Given the description of an element on the screen output the (x, y) to click on. 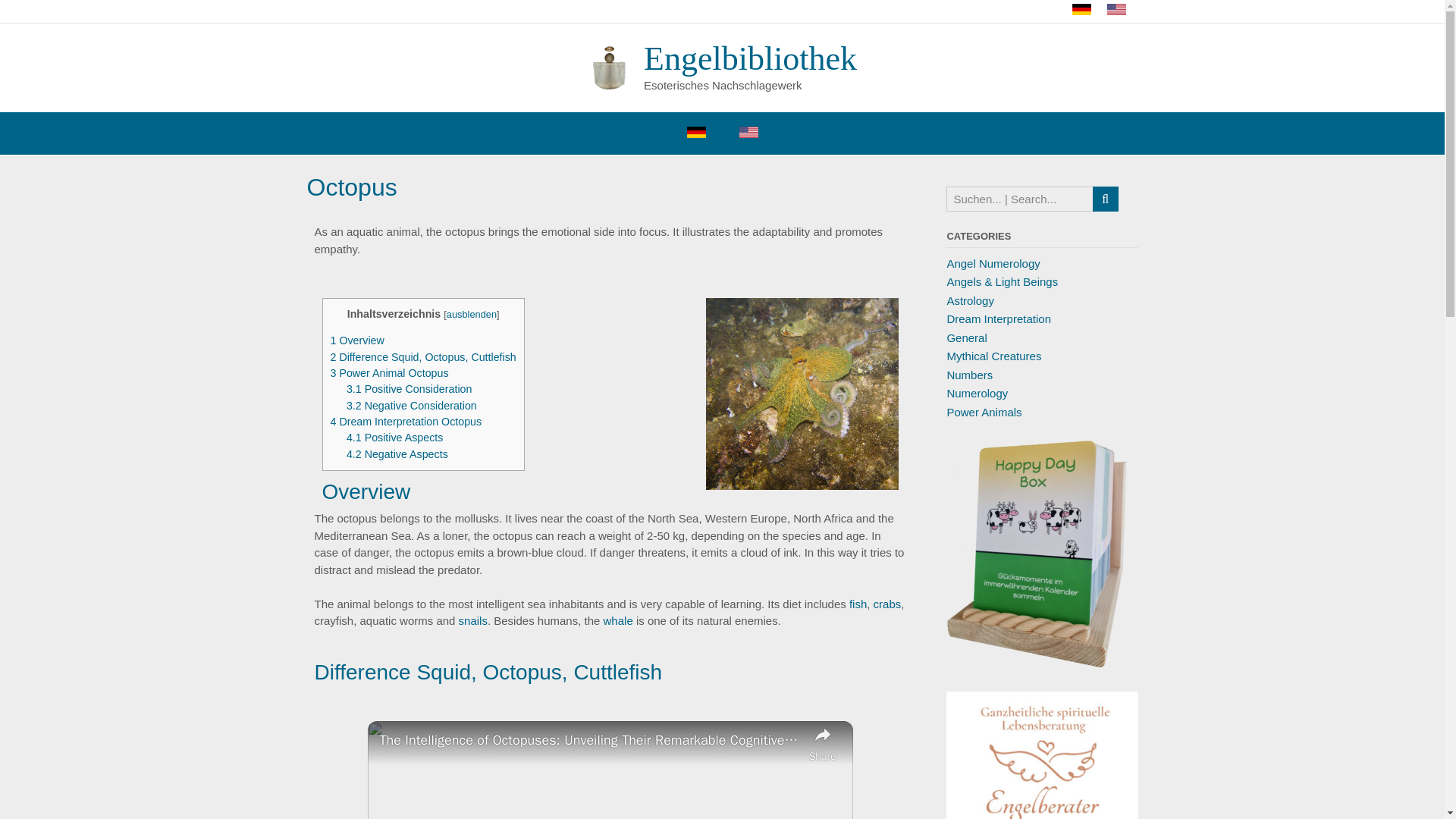
4.1 Positive Aspects (395, 437)
3.1 Positive Consideration (408, 388)
Angel Numerology (992, 262)
fish (857, 603)
3 Power Animal Octopus (389, 372)
Engelbibliothek (614, 66)
4.2 Negative Aspects (397, 453)
ausblenden (471, 313)
3.2 Negative Consideration (411, 405)
4 Dream Interpretation Octopus (405, 421)
snails (472, 620)
Search for: (1019, 198)
whale (618, 620)
1 Overview (357, 340)
